Given the description of an element on the screen output the (x, y) to click on. 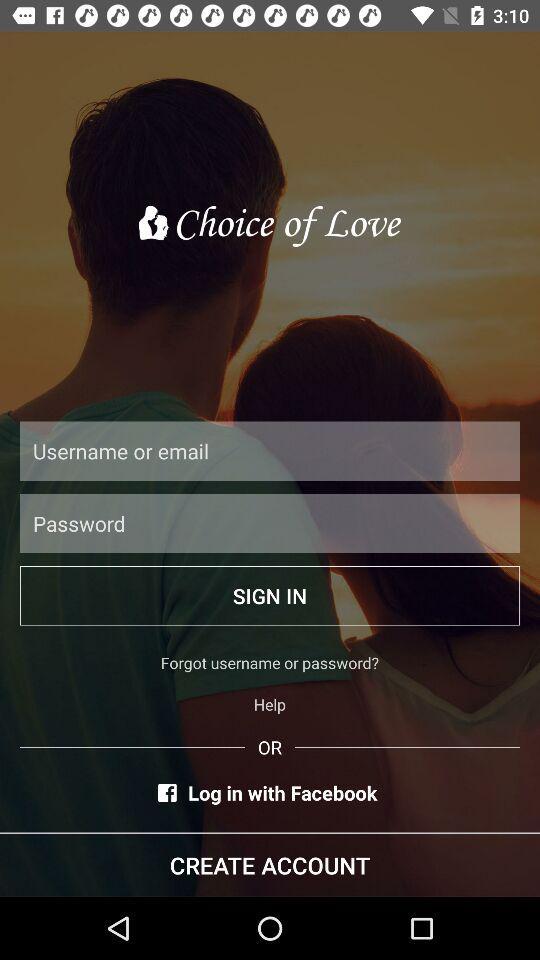
type password (269, 523)
